Given the description of an element on the screen output the (x, y) to click on. 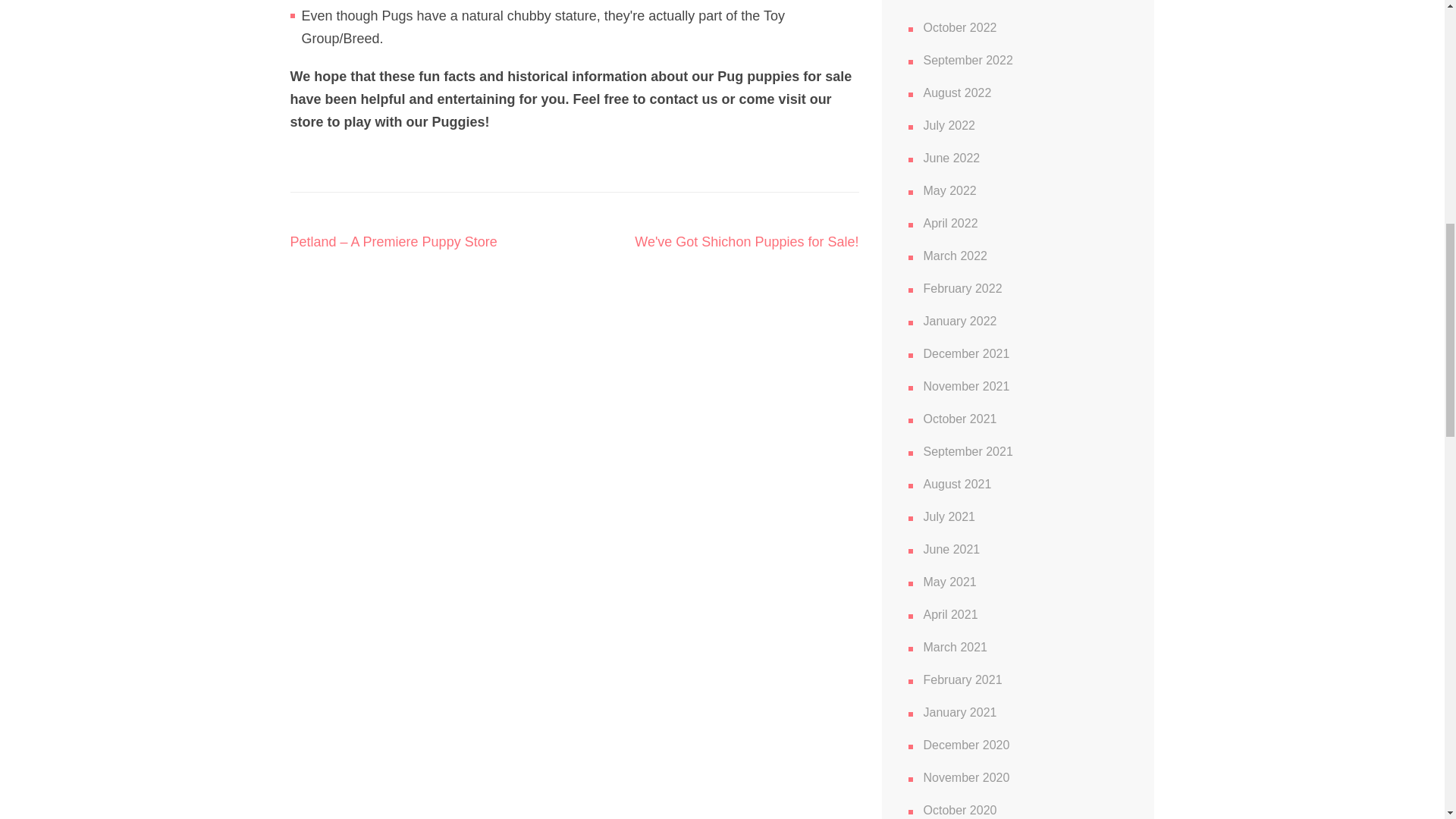
August 2022 (957, 92)
We've Got Shichon Puppies for Sale! (746, 241)
April 2022 (950, 223)
March 2022 (955, 255)
September 2022 (968, 60)
October 2022 (960, 27)
May 2022 (949, 190)
June 2022 (951, 157)
November 2022 (966, 0)
July 2022 (949, 124)
